Given the description of an element on the screen output the (x, y) to click on. 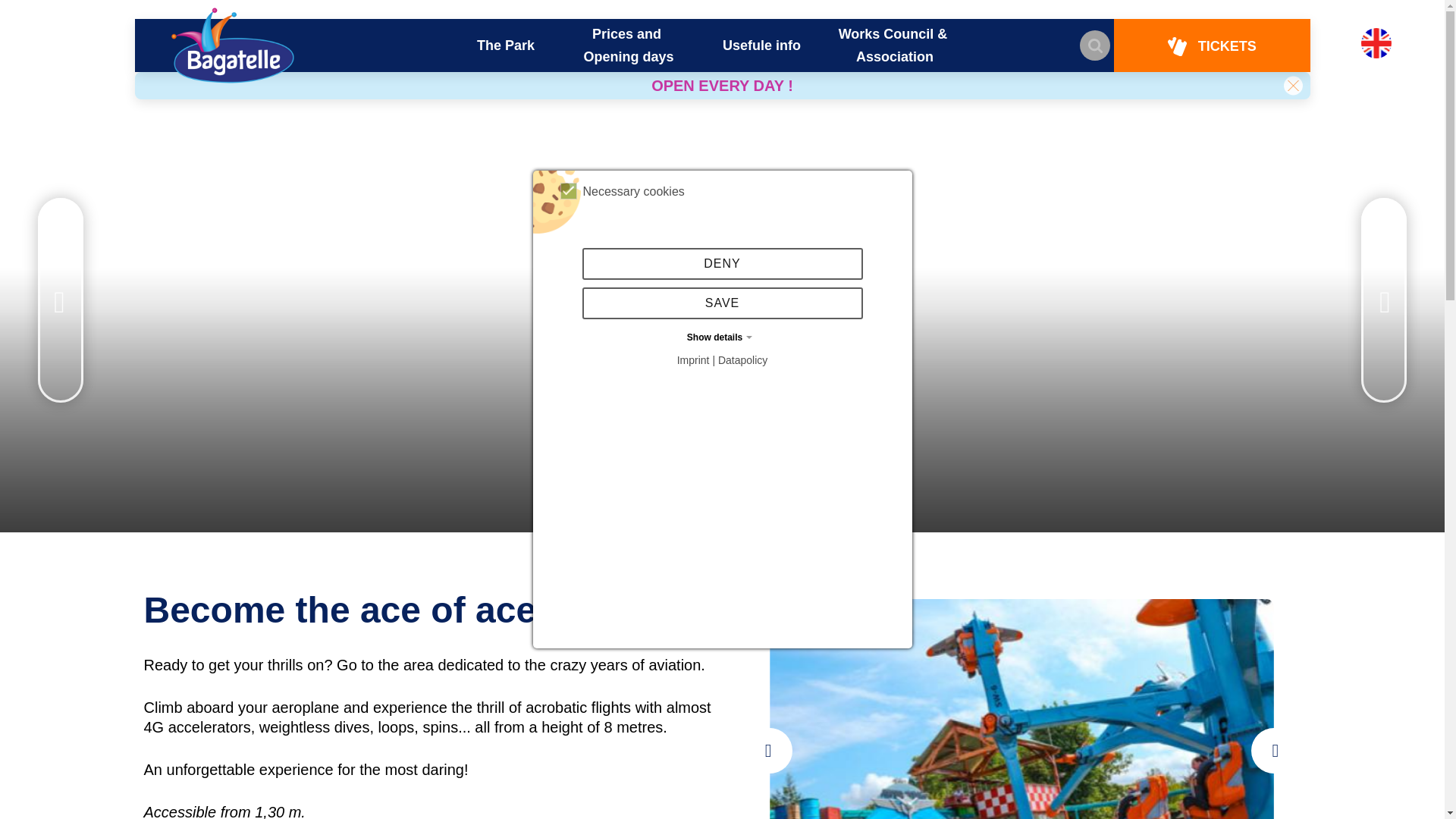
Bagatelle (232, 45)
  TICKETS (1210, 45)
The Park (505, 45)
Usefule info (761, 45)
Search (1094, 45)
Prices and Opening days (628, 45)
Search (1094, 45)
